Given the description of an element on the screen output the (x, y) to click on. 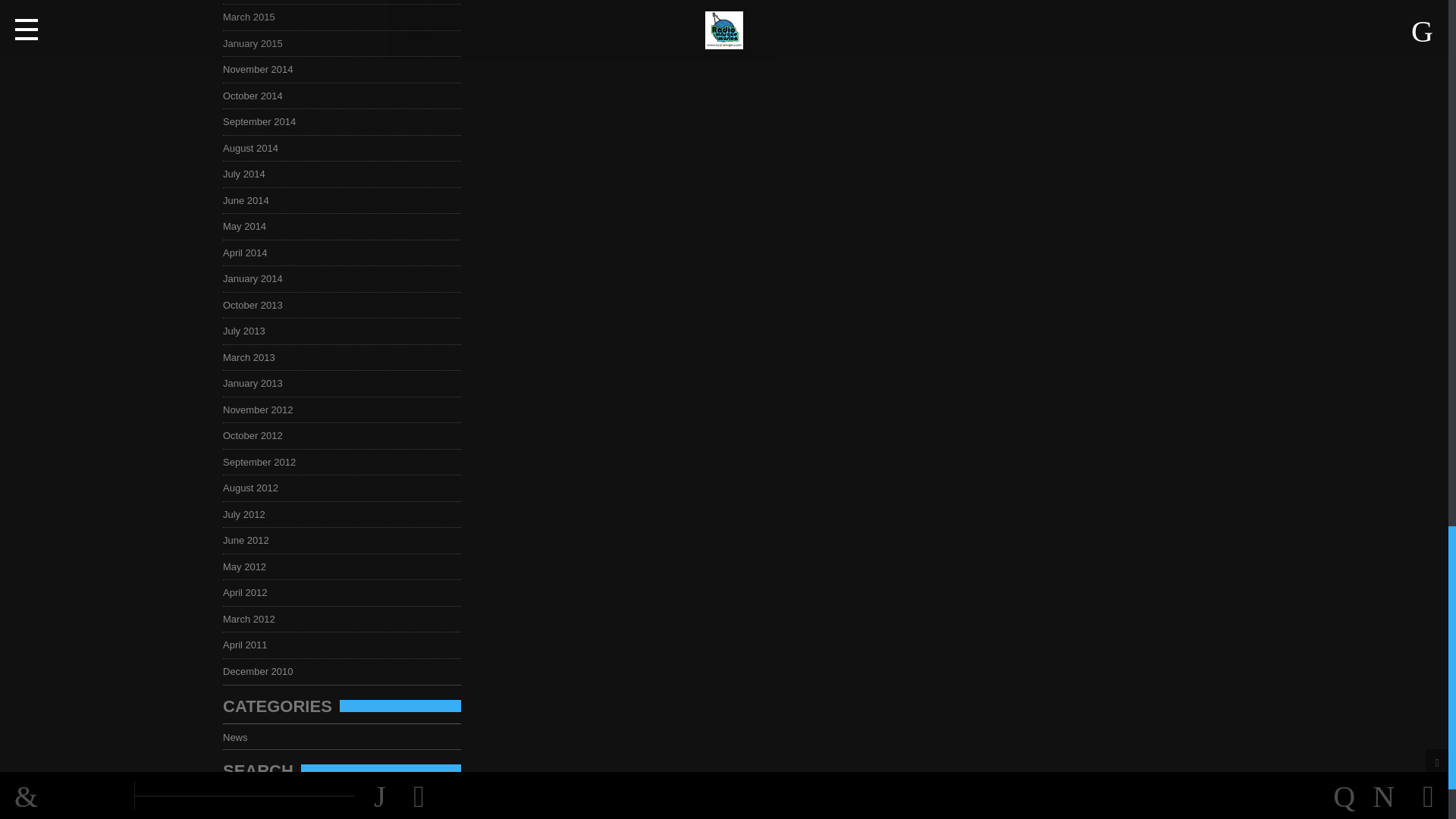
November 2014 (262, 69)
November 2012 (262, 409)
March 2015 (252, 16)
July 2013 (248, 330)
March 2013 (252, 357)
July 2014 (248, 173)
March 2012 (252, 618)
January 2014 (257, 278)
January 2013 (257, 383)
October 2013 (257, 305)
September 2014 (263, 121)
April 2014 (249, 252)
August 2014 (254, 147)
January 2015 (257, 43)
October 2014 (257, 95)
